Given the description of an element on the screen output the (x, y) to click on. 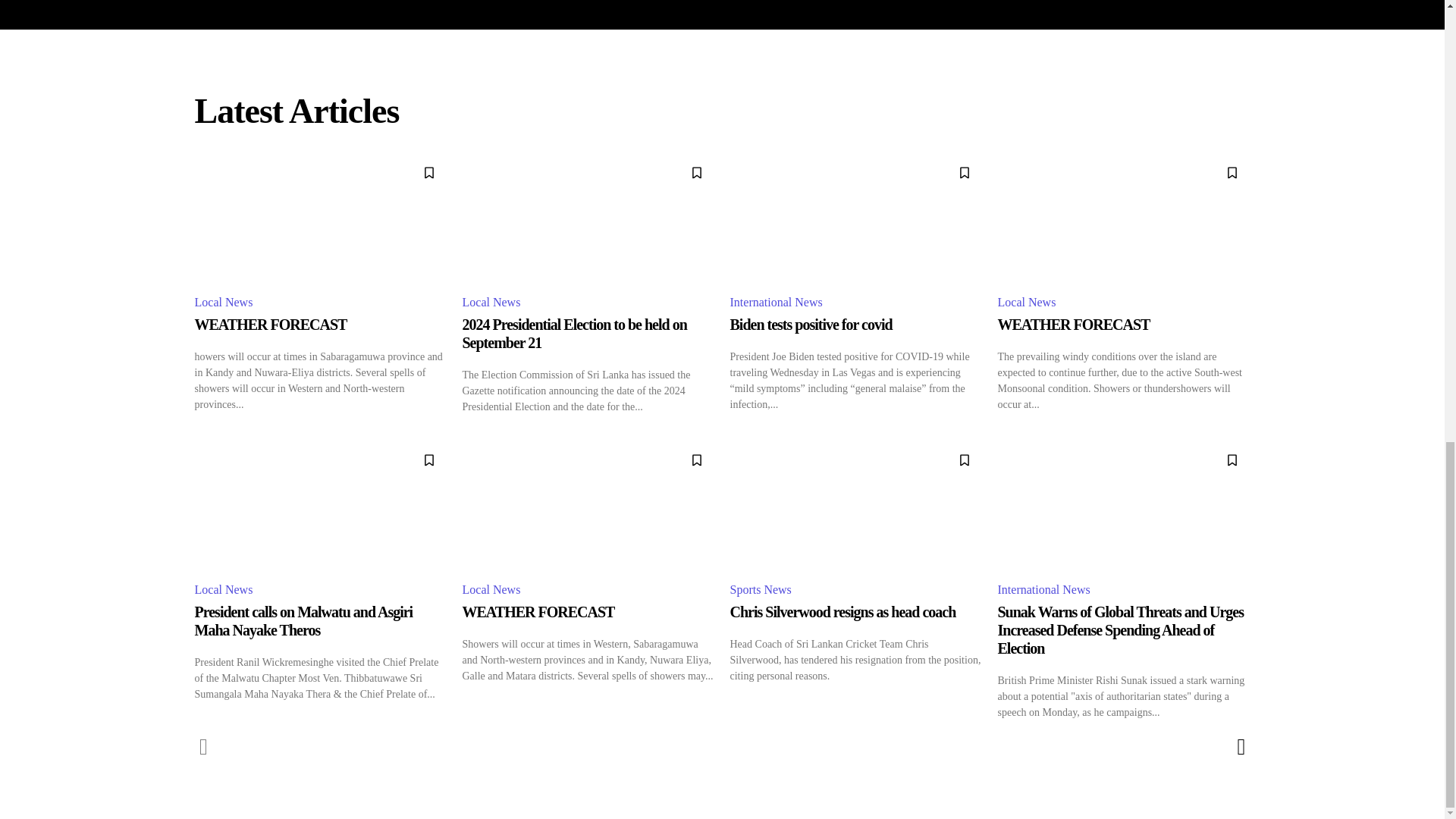
WEATHER FORECAST (319, 217)
Local News (494, 302)
WEATHER FORECAST (1123, 217)
WEATHER FORECAST (1073, 324)
2024 Presidential Election to be held on September 21 (575, 333)
President calls on Malwatu and Asgiri Maha Nayake Theros (319, 505)
Biden tests positive for covid (810, 324)
Biden tests positive for covid (855, 217)
WEATHER FORECAST (269, 324)
Local News (225, 302)
WEATHER FORECAST (269, 324)
2024 Presidential Election to be held on September 21 (588, 217)
